Given the description of an element on the screen output the (x, y) to click on. 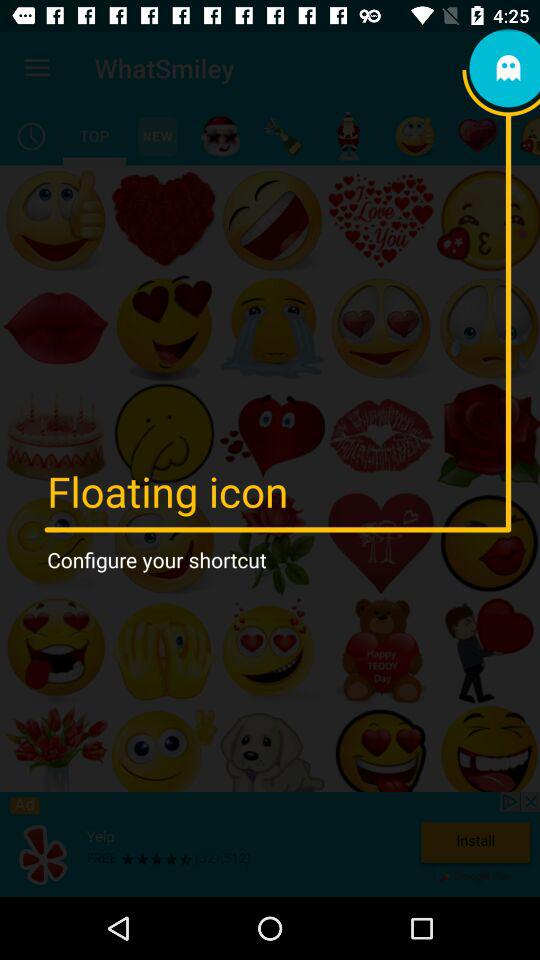
to install yelp (270, 844)
